Given the description of an element on the screen output the (x, y) to click on. 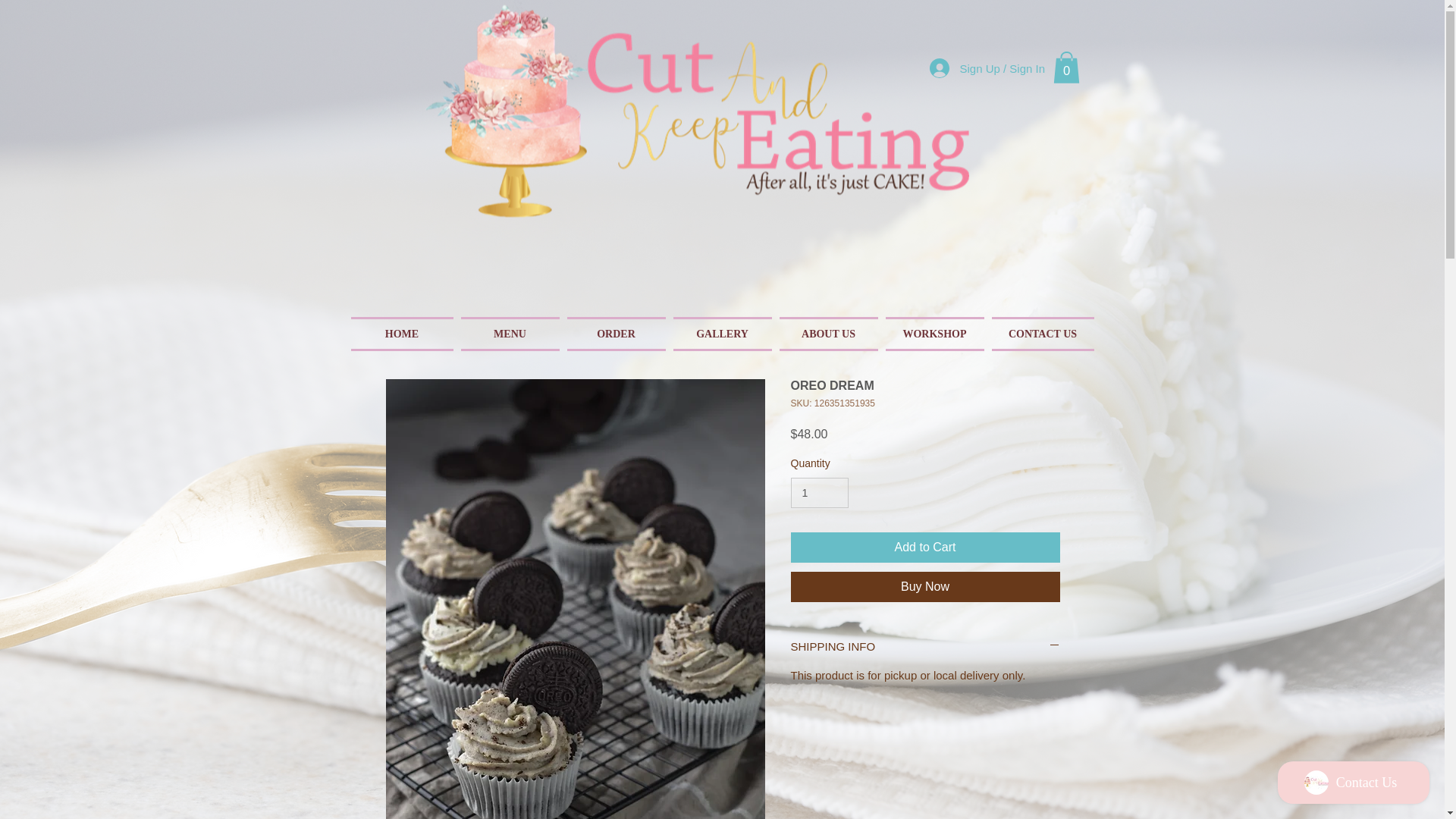
HOME (403, 333)
Buy Now (924, 586)
ORDER (615, 333)
MENU (509, 333)
ABOUT US (827, 333)
SHIPPING INFO (924, 646)
Add to Cart (924, 547)
CONTACT US (1040, 333)
GALLERY (721, 333)
WORKSHOP (933, 333)
1 (818, 492)
